Given the description of an element on the screen output the (x, y) to click on. 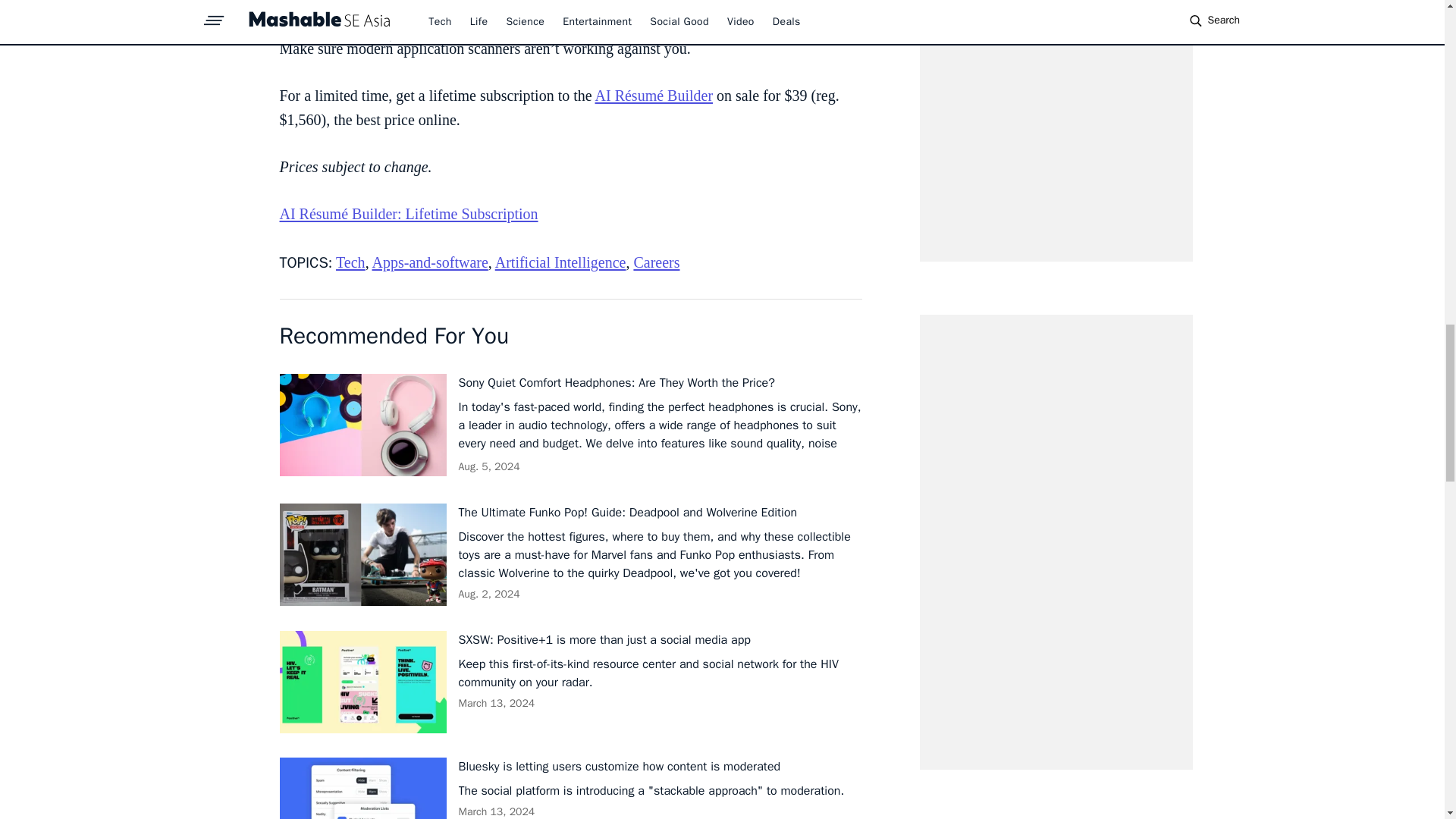
Artificial Intelligence (560, 262)
Apps-and-software (429, 262)
Careers (656, 262)
Tech (350, 262)
